Given the description of an element on the screen output the (x, y) to click on. 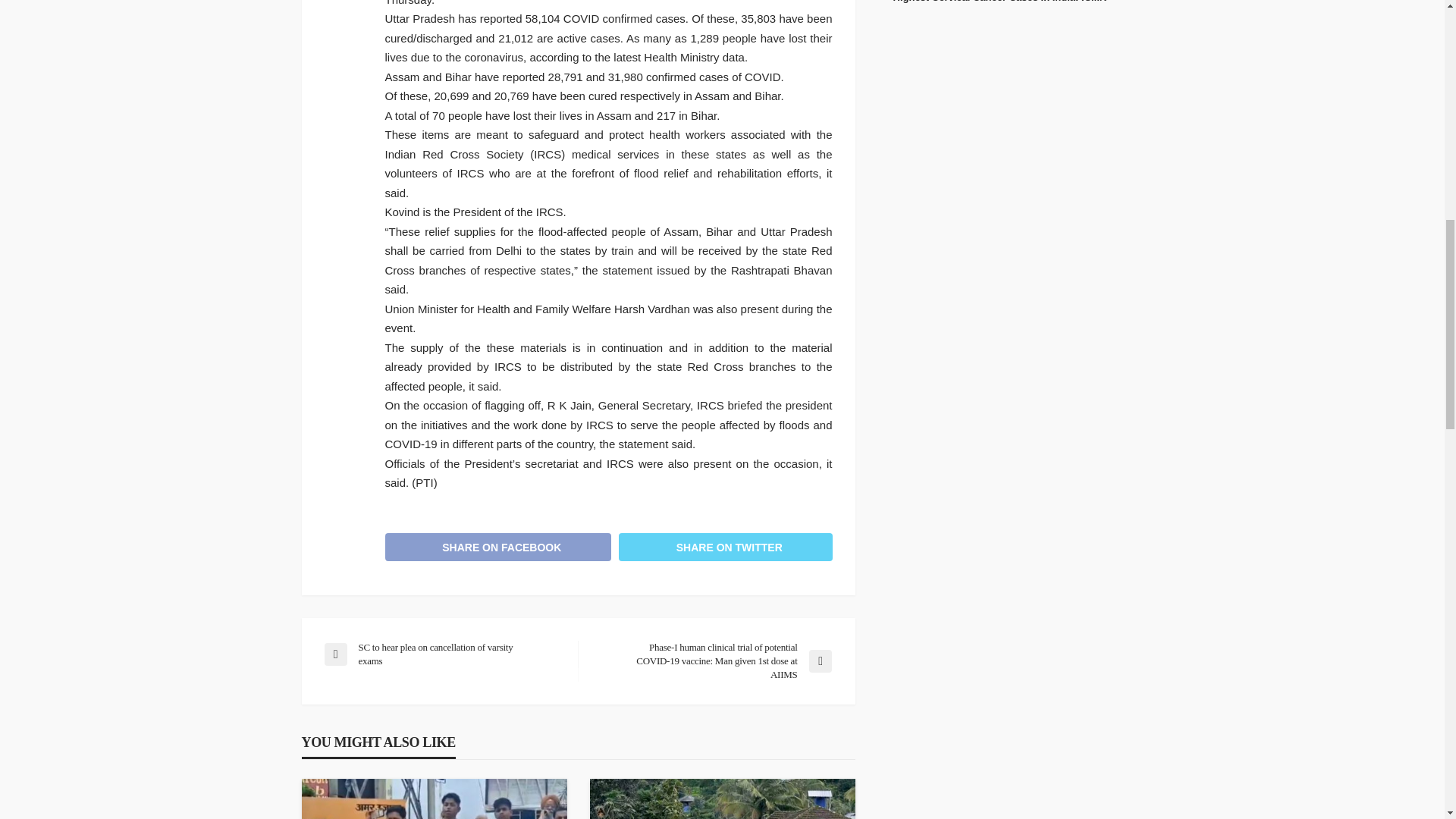
SC to hear plea on cancellation of varsity exams (443, 654)
